Given the description of an element on the screen output the (x, y) to click on. 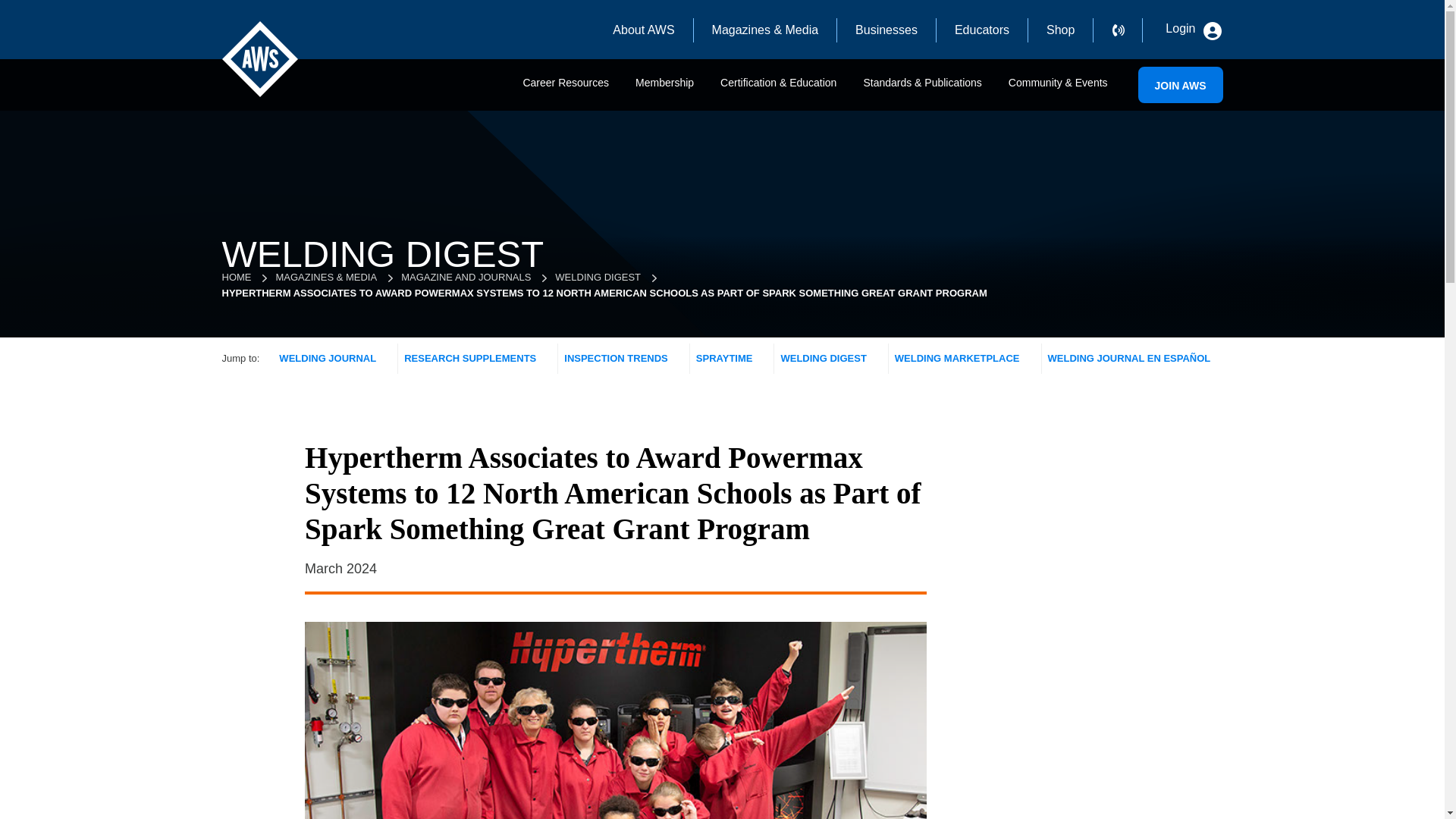
standards and publications (922, 89)
Membership (664, 89)
Businesses (886, 30)
Shop (1060, 30)
Login (1191, 29)
contact us (1127, 30)
Career Resources (565, 89)
membership (664, 89)
career resources (565, 89)
About AWS (643, 30)
Educators (981, 30)
